Given the description of an element on the screen output the (x, y) to click on. 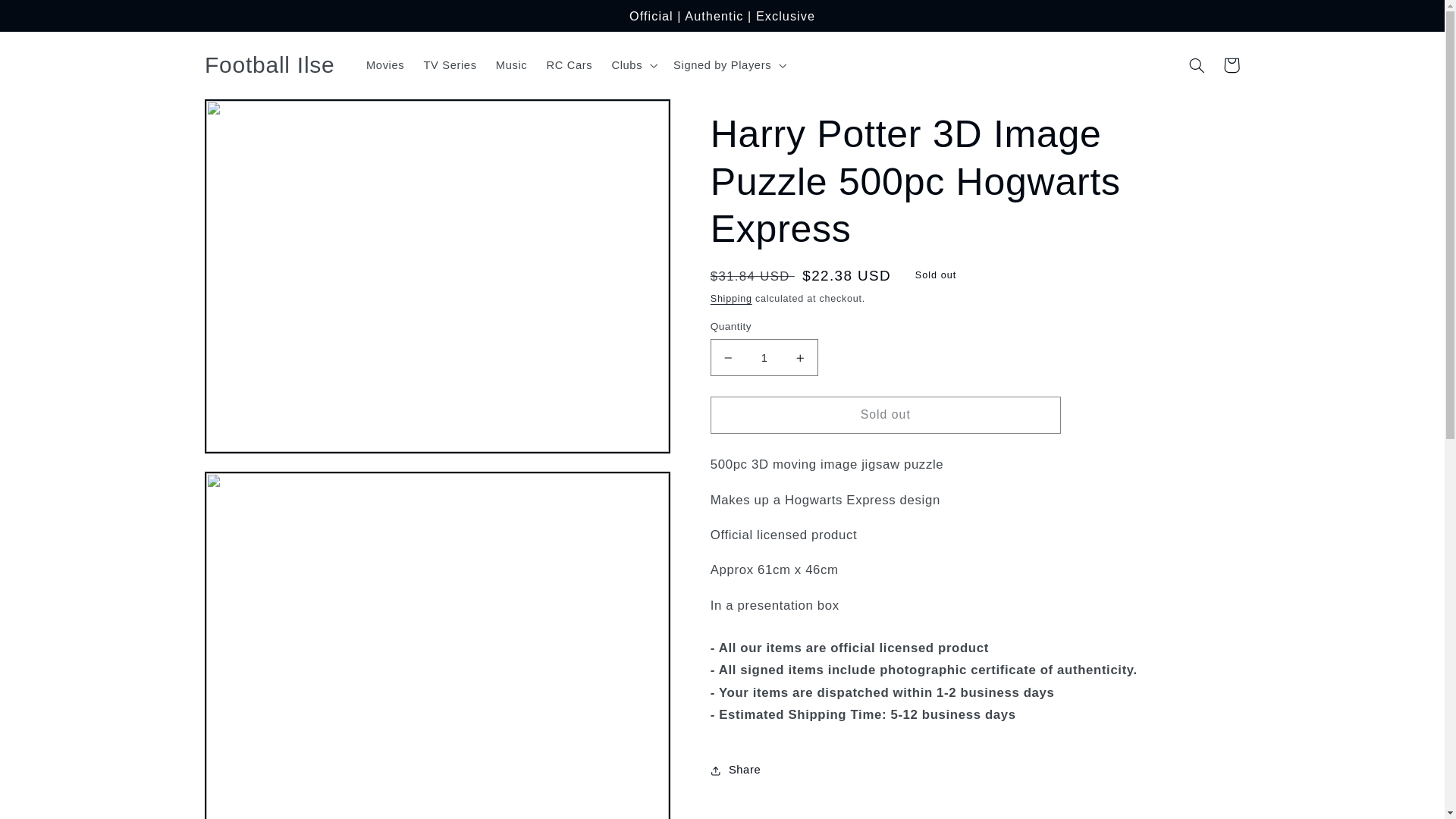
1 (764, 357)
Movies (384, 64)
RC Cars (569, 64)
TV Series (449, 64)
Football Ilse (269, 65)
Skip to content (48, 18)
Music (511, 64)
